Given the description of an element on the screen output the (x, y) to click on. 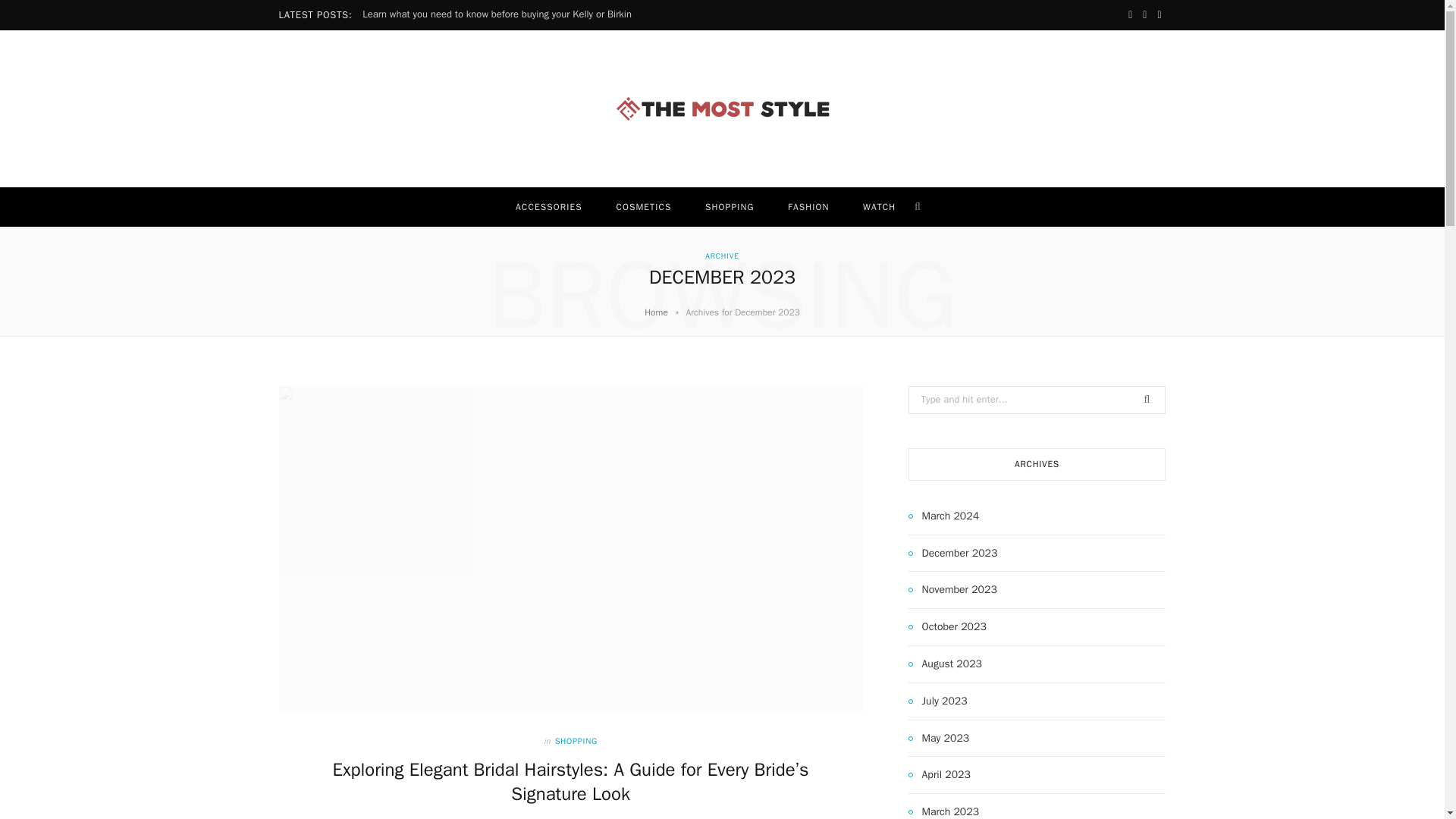
Search for: (1037, 399)
WATCH (879, 206)
ACCESSORIES (548, 206)
NO COMMENTS (622, 818)
SHOPPING (729, 206)
November 2023 (952, 589)
August 2023 (944, 664)
The Most Style (722, 109)
March 2024 (943, 515)
Home (656, 312)
October 2023 (947, 627)
FASHION (808, 206)
